Given the description of an element on the screen output the (x, y) to click on. 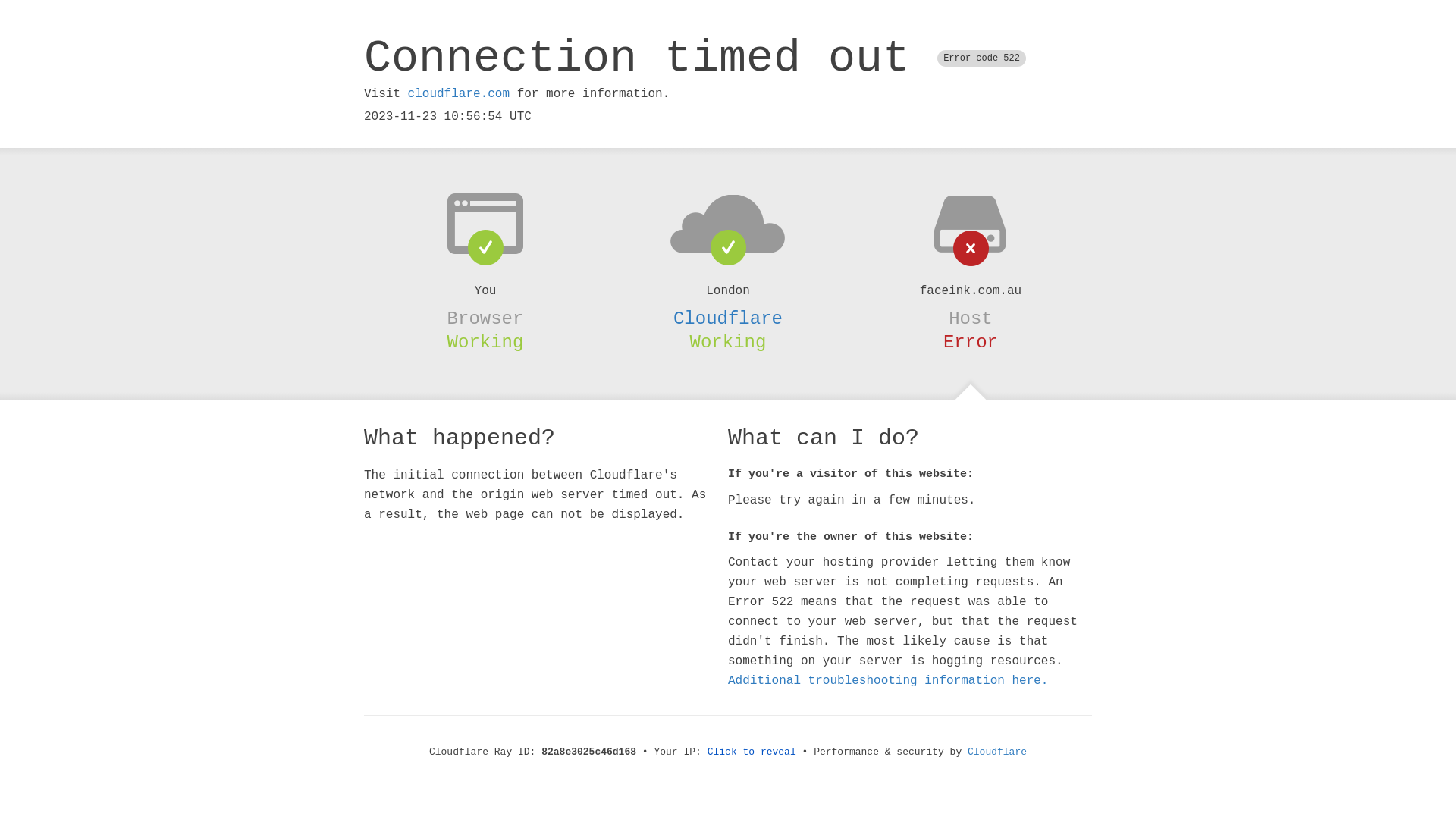
Click to reveal Element type: text (751, 751)
Cloudflare Element type: text (727, 318)
Cloudflare Element type: text (996, 751)
Additional troubleshooting information here. Element type: text (888, 680)
cloudflare.com Element type: text (458, 93)
